Given the description of an element on the screen output the (x, y) to click on. 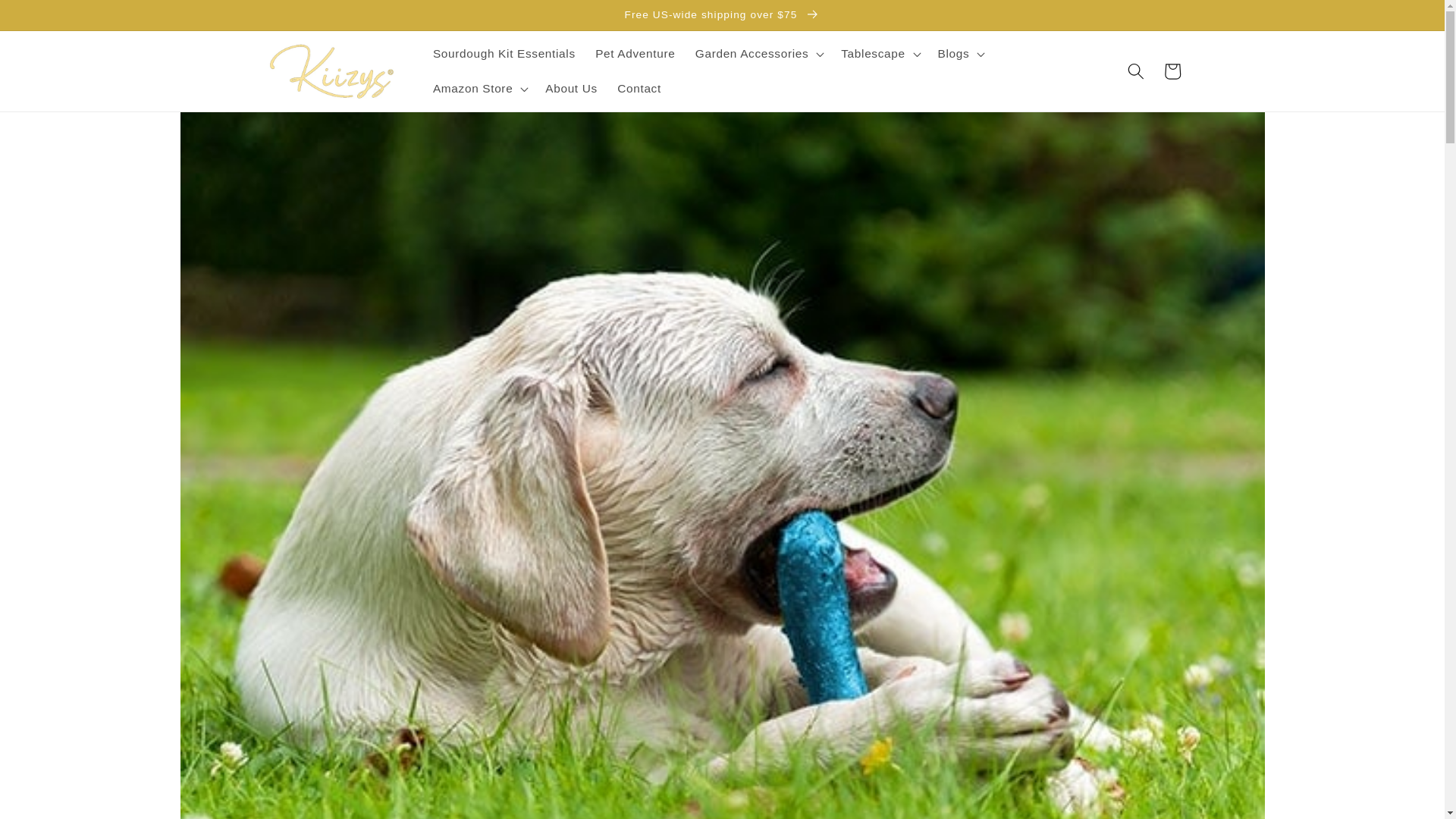
Pet Adventure (635, 53)
Sourdough Kit Essentials (504, 53)
Skip to content (50, 19)
